Given the description of an element on the screen output the (x, y) to click on. 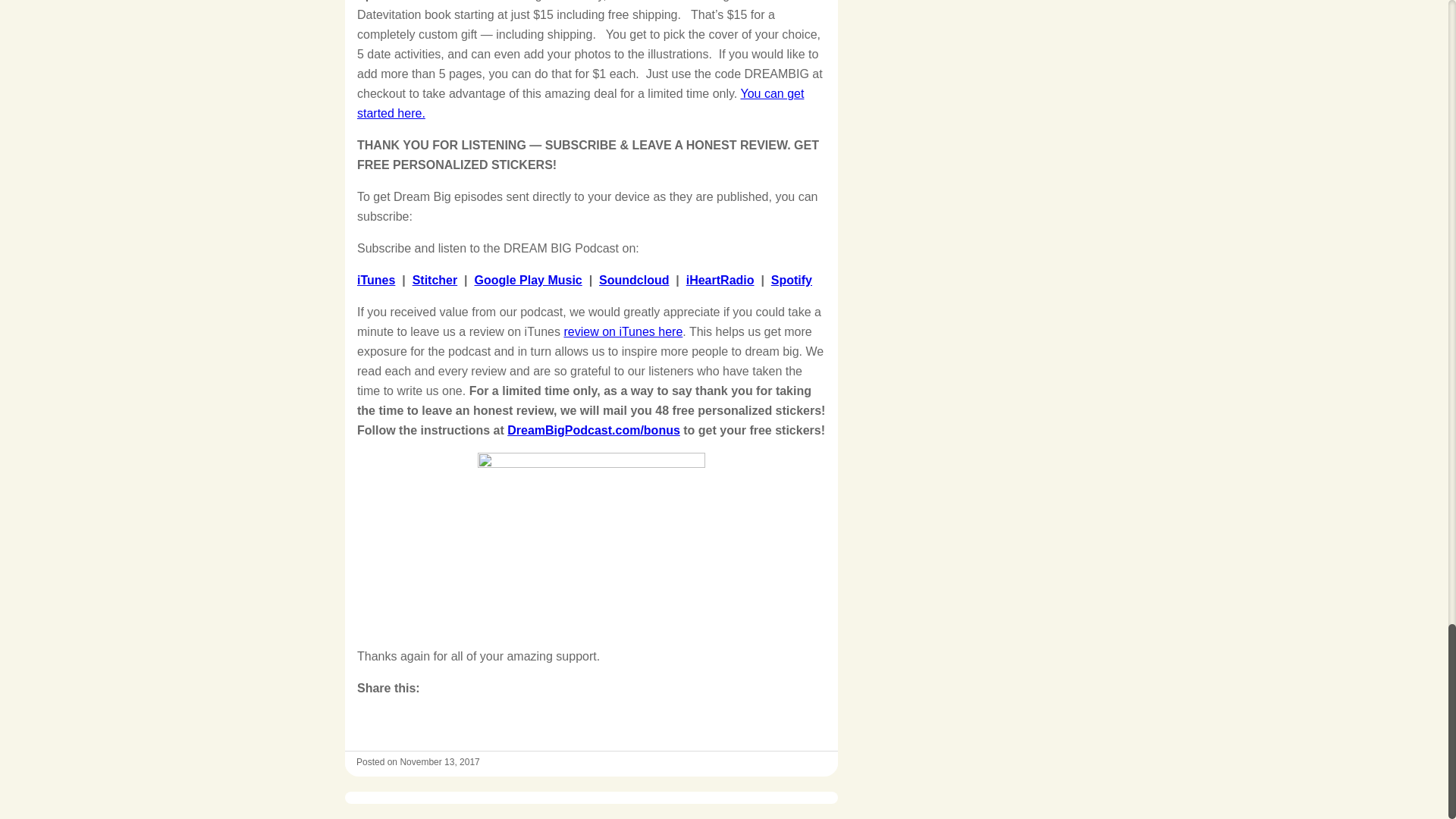
iTunes (375, 279)
You can get started here. (579, 102)
Stitcher (435, 279)
Google Play Music (527, 279)
Soundcloud (633, 279)
